Given the description of an element on the screen output the (x, y) to click on. 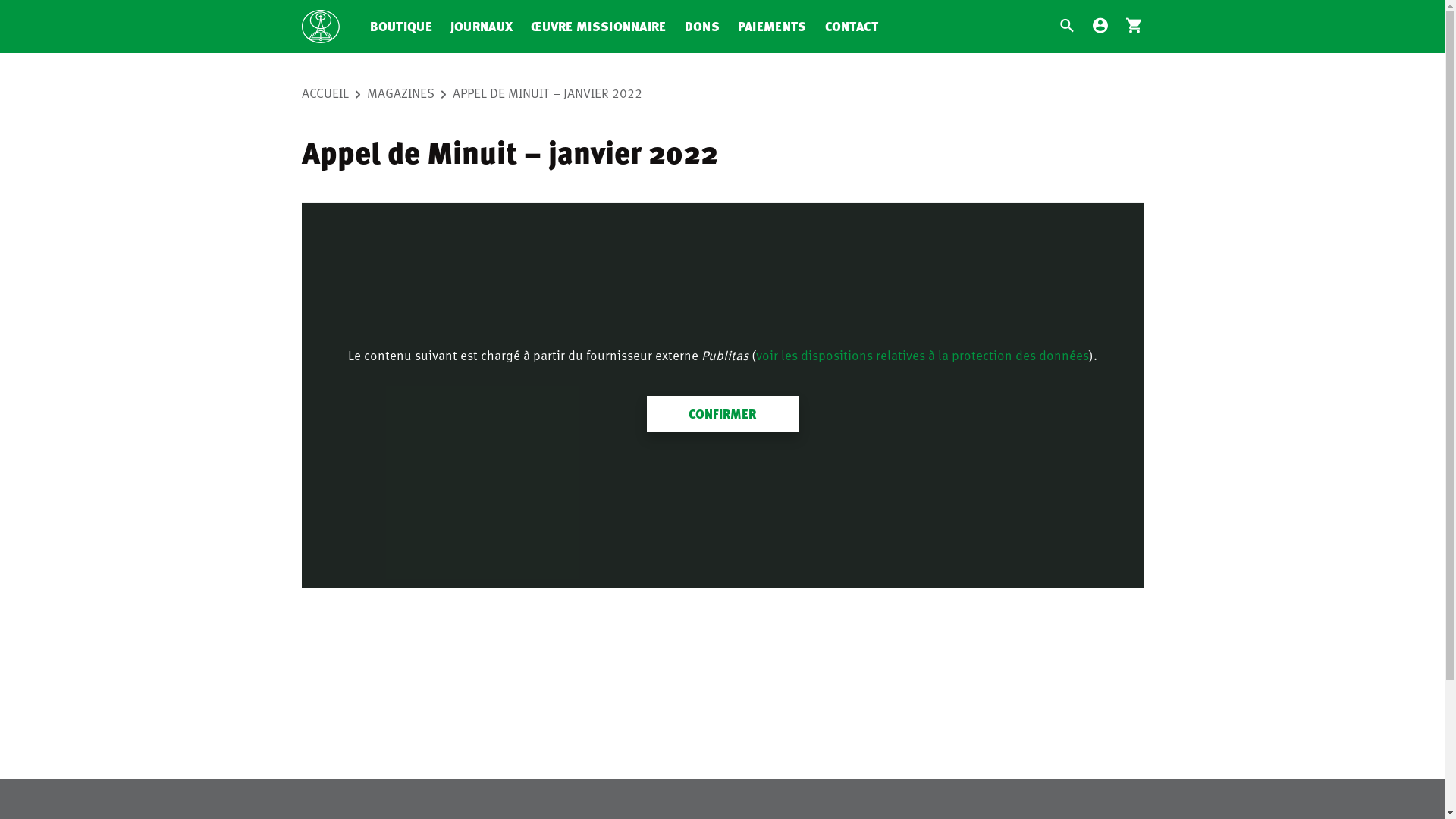
DONS Element type: text (701, 26)
JOURNAUX Element type: text (481, 26)
CONFIRMER Element type: text (721, 413)
ACCUEIL Element type: text (334, 93)
PAIEMENTS Element type: text (771, 26)
CONTACT Element type: text (851, 26)
BOUTIQUE Element type: text (400, 26)
MAGAZINES Element type: text (409, 93)
